Given the description of an element on the screen output the (x, y) to click on. 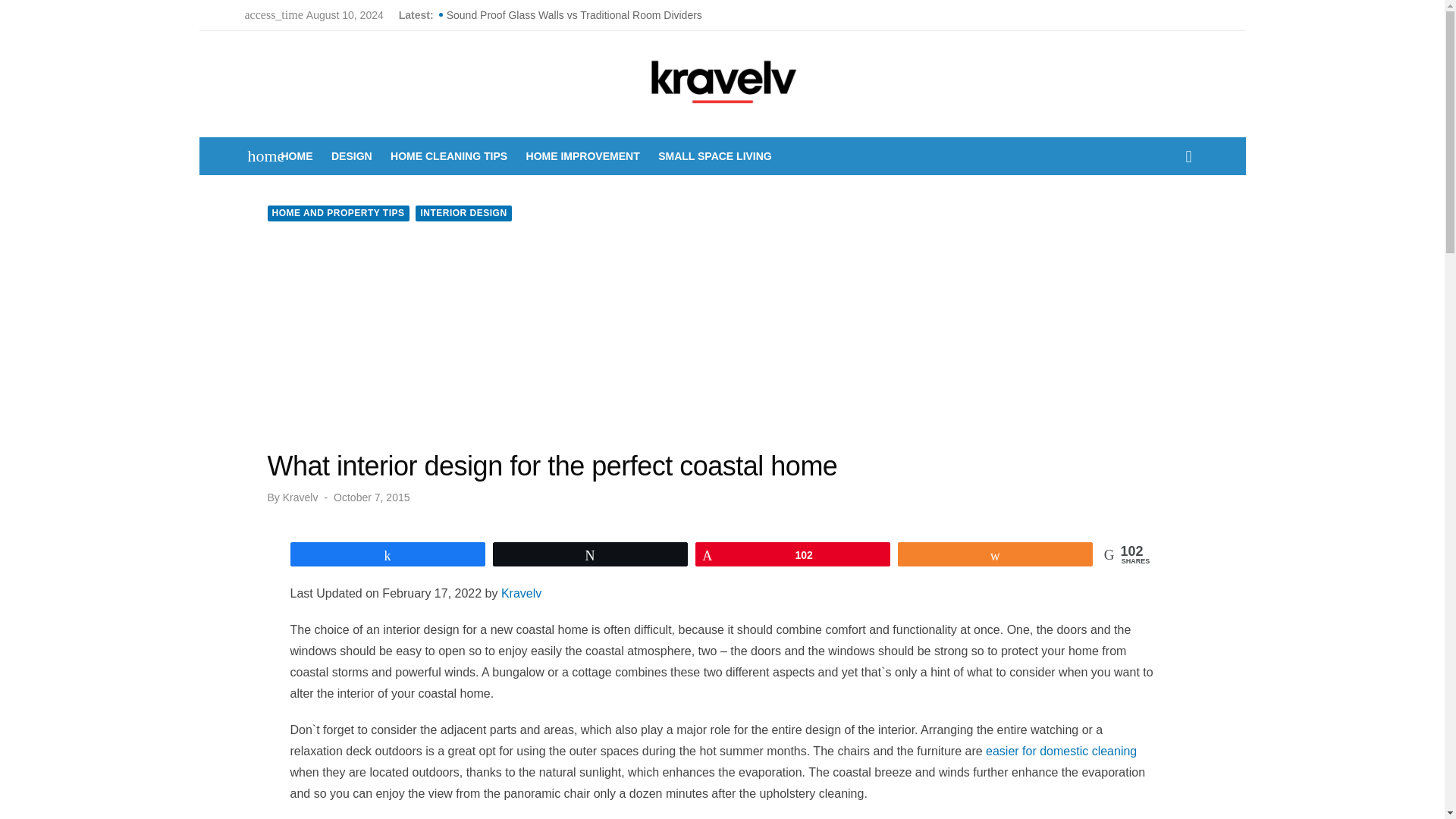
INTERIOR DESIGN (462, 213)
Sound Proof Glass Walls vs Traditional Room Dividers (625, 15)
HOME CLEANING TIPS (449, 156)
HOME IMPROVEMENT (582, 156)
home (258, 155)
Small Space Living (714, 156)
DESIGN (352, 156)
easier for domestic cleaning (1061, 750)
SMALL SPACE LIVING (714, 156)
102 (792, 553)
